Given the description of an element on the screen output the (x, y) to click on. 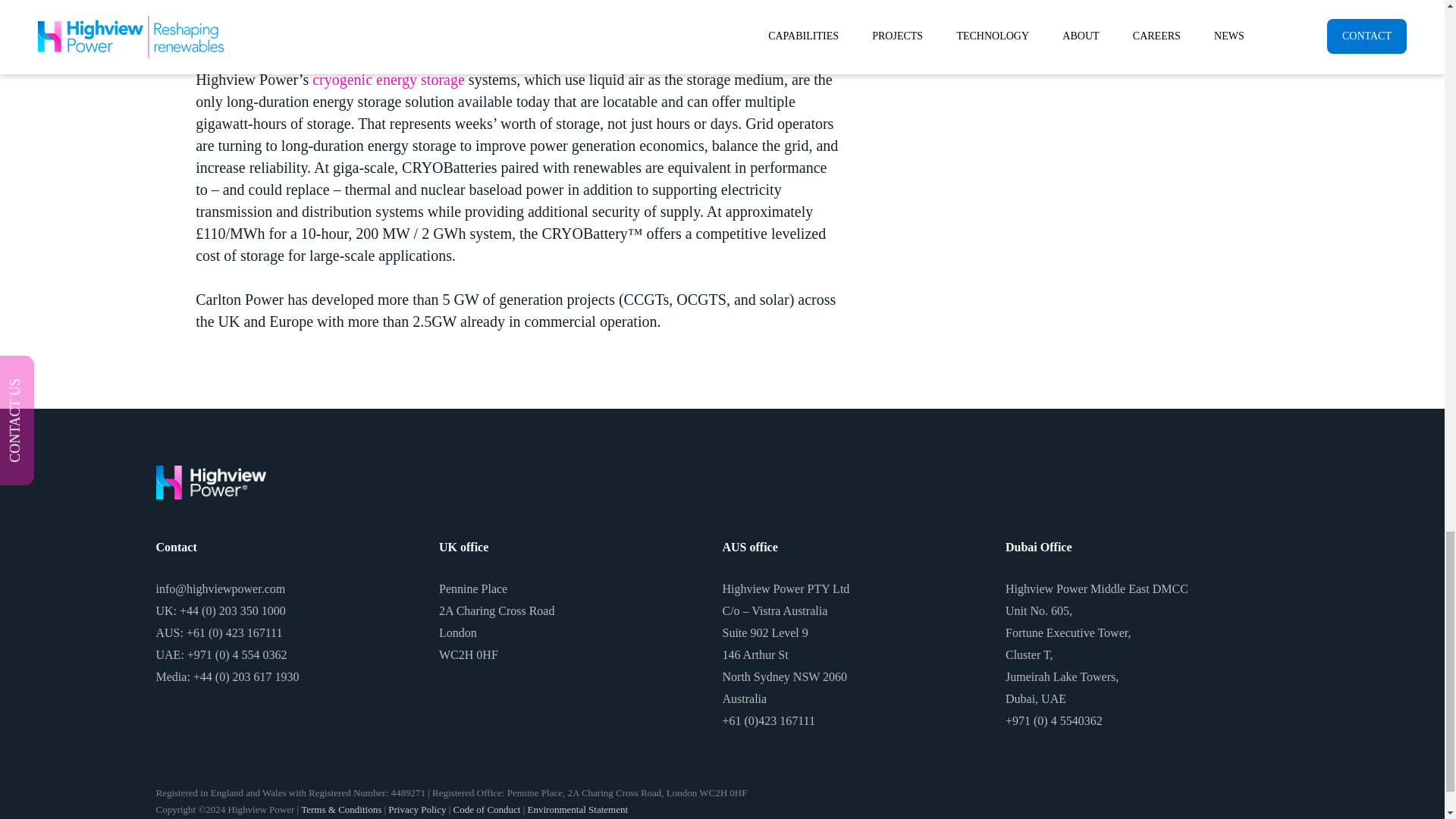
cryogenic energy storage (388, 79)
Privacy Policy (416, 808)
Code of Conduct (486, 808)
Environmental Statement (577, 808)
